Given the description of an element on the screen output the (x, y) to click on. 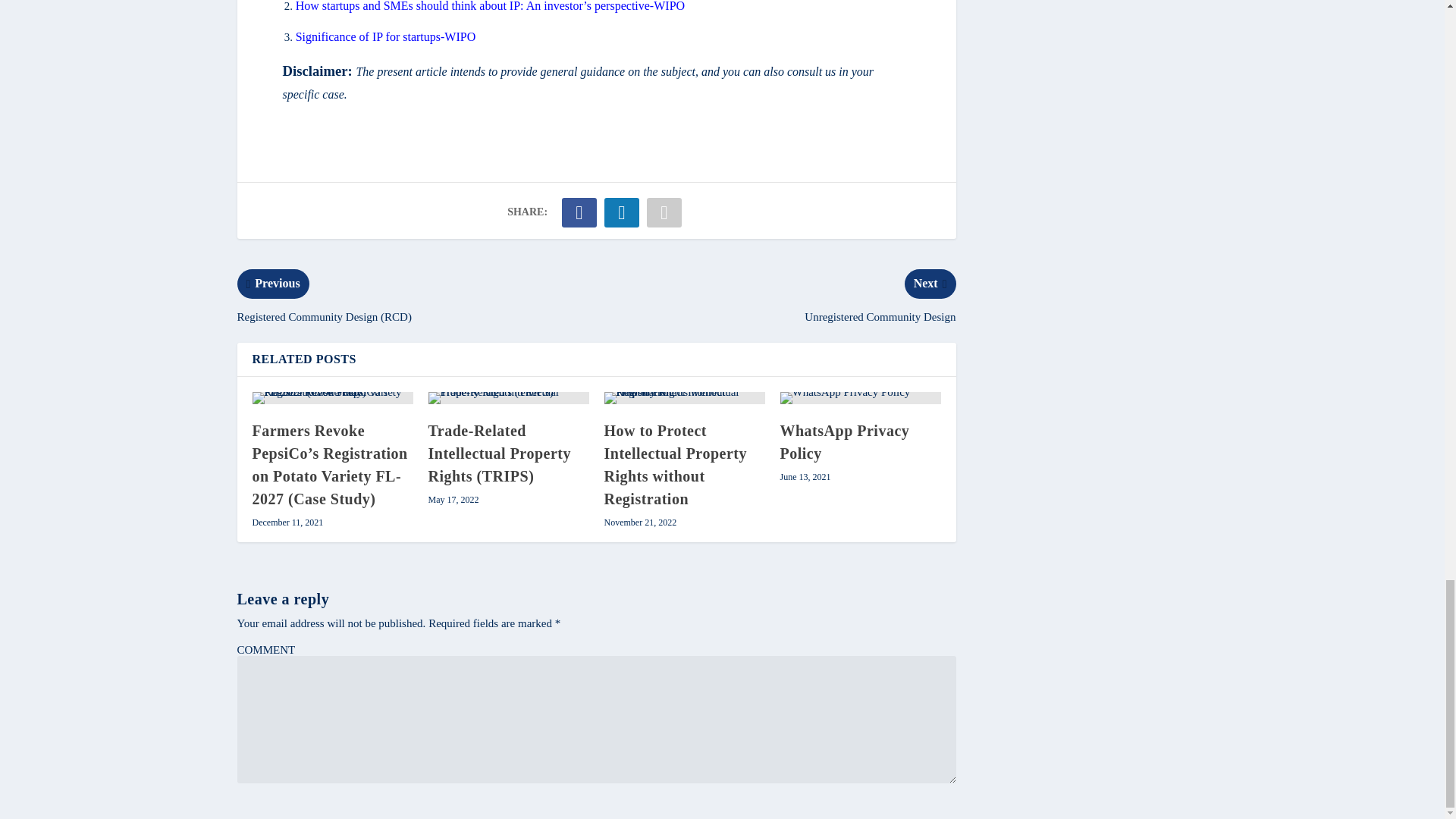
WhatsApp Privacy Policy (859, 398)
